Given the description of an element on the screen output the (x, y) to click on. 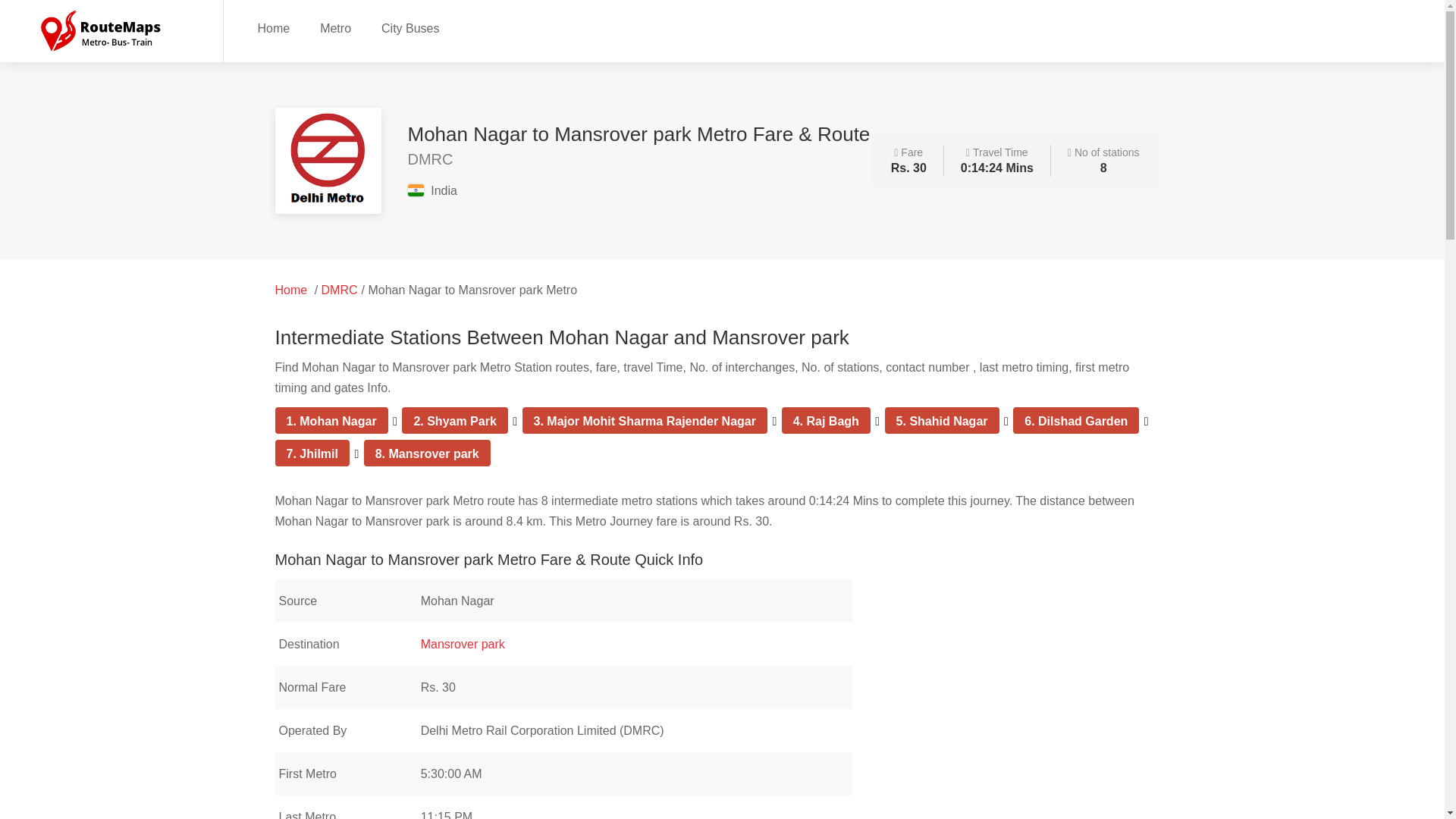
8. Mansrover park (427, 453)
4. Raj Bagh (826, 420)
Home (291, 289)
2. Shyam Park (454, 420)
Home (273, 28)
5. Shahid Nagar (942, 420)
6. Dilshad Garden (1075, 420)
Metro (335, 28)
City Buses (409, 28)
3. Major Mohit Sharma Rajender Nagar (644, 420)
Mansrover park (462, 644)
1. Mohan Nagar (331, 420)
7. Jhilmil (311, 453)
DMRC (339, 289)
